Given the description of an element on the screen output the (x, y) to click on. 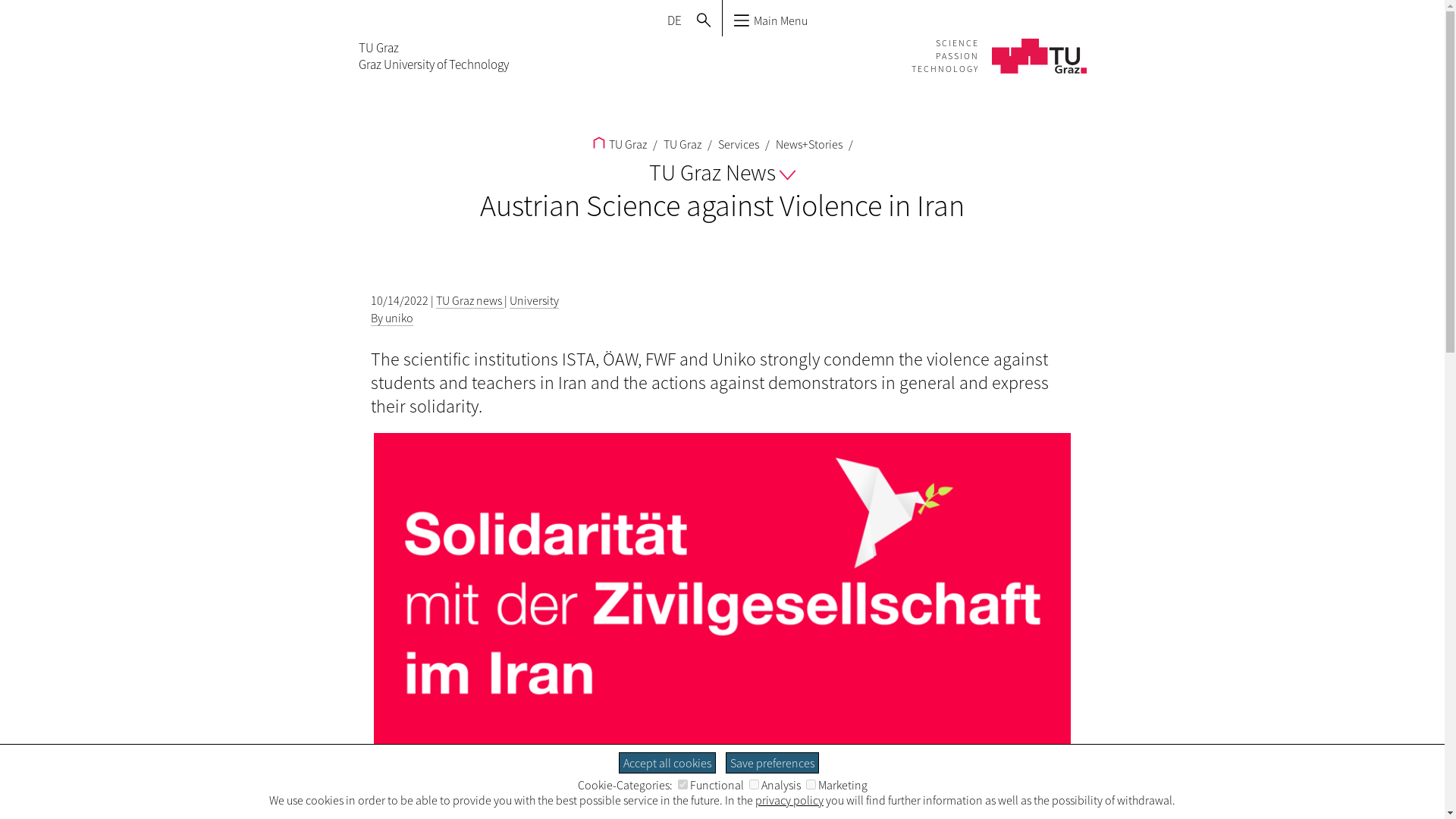
Search (702, 20)
on (682, 784)
on (753, 784)
TU Graz Home (433, 55)
on (810, 784)
Auf Deutsch anzeigen (673, 20)
TU Graz Home (998, 43)
